Given the description of an element on the screen output the (x, y) to click on. 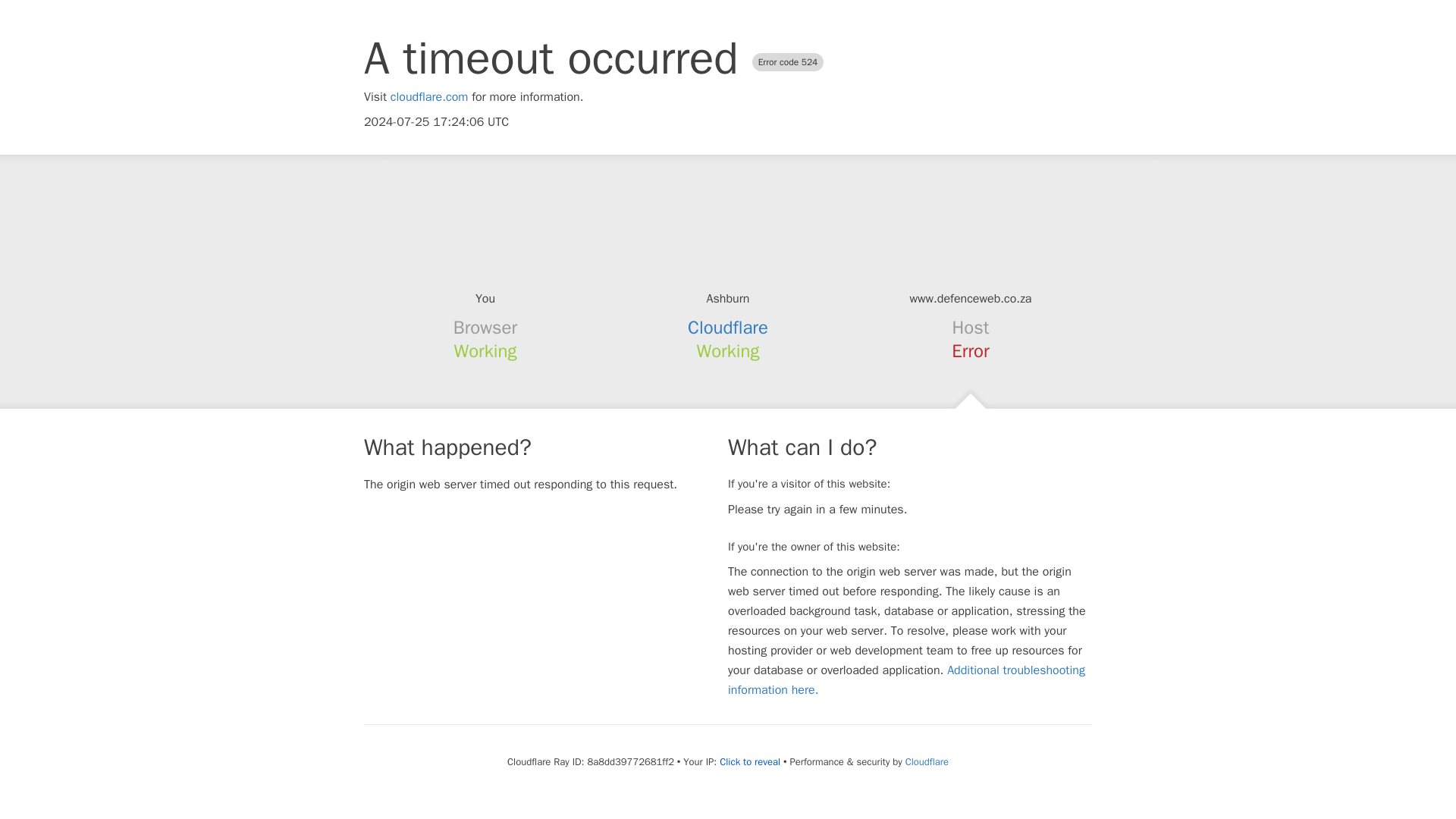
Additional troubleshooting information here. (906, 679)
Cloudflare (727, 327)
Click to reveal (749, 762)
cloudflare.com (429, 96)
Cloudflare (927, 761)
